Given the description of an element on the screen output the (x, y) to click on. 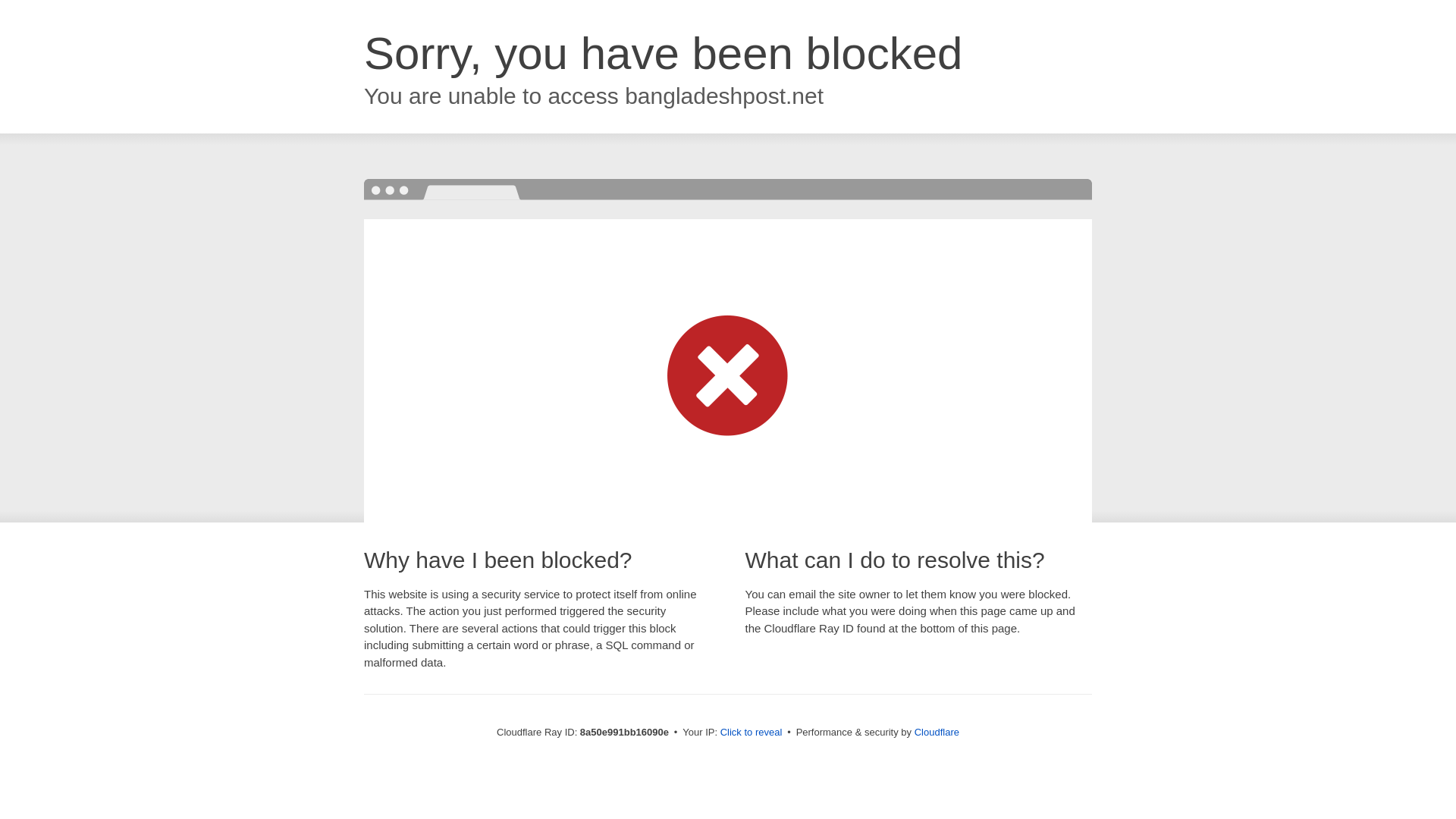
Click to reveal (751, 732)
Cloudflare (936, 731)
